Given the description of an element on the screen output the (x, y) to click on. 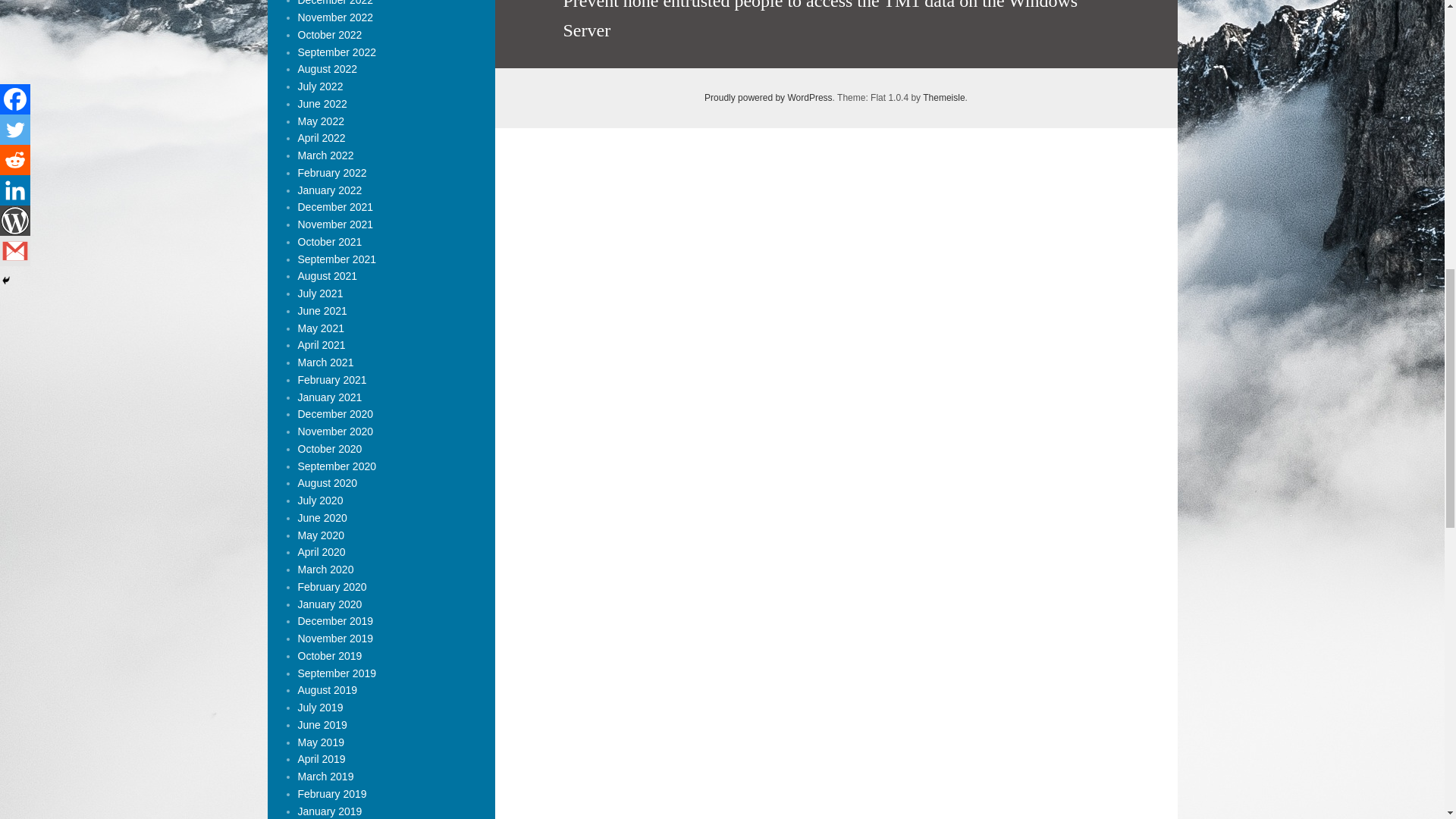
May 2022 (320, 121)
Flat WordPress Theme (943, 97)
June 2022 (321, 103)
October 2022 (329, 34)
November 2022 (334, 17)
Semantic Personal Publishing Platform (768, 97)
December 2022 (334, 2)
September 2022 (336, 51)
April 2022 (321, 137)
August 2022 (326, 69)
